Given the description of an element on the screen output the (x, y) to click on. 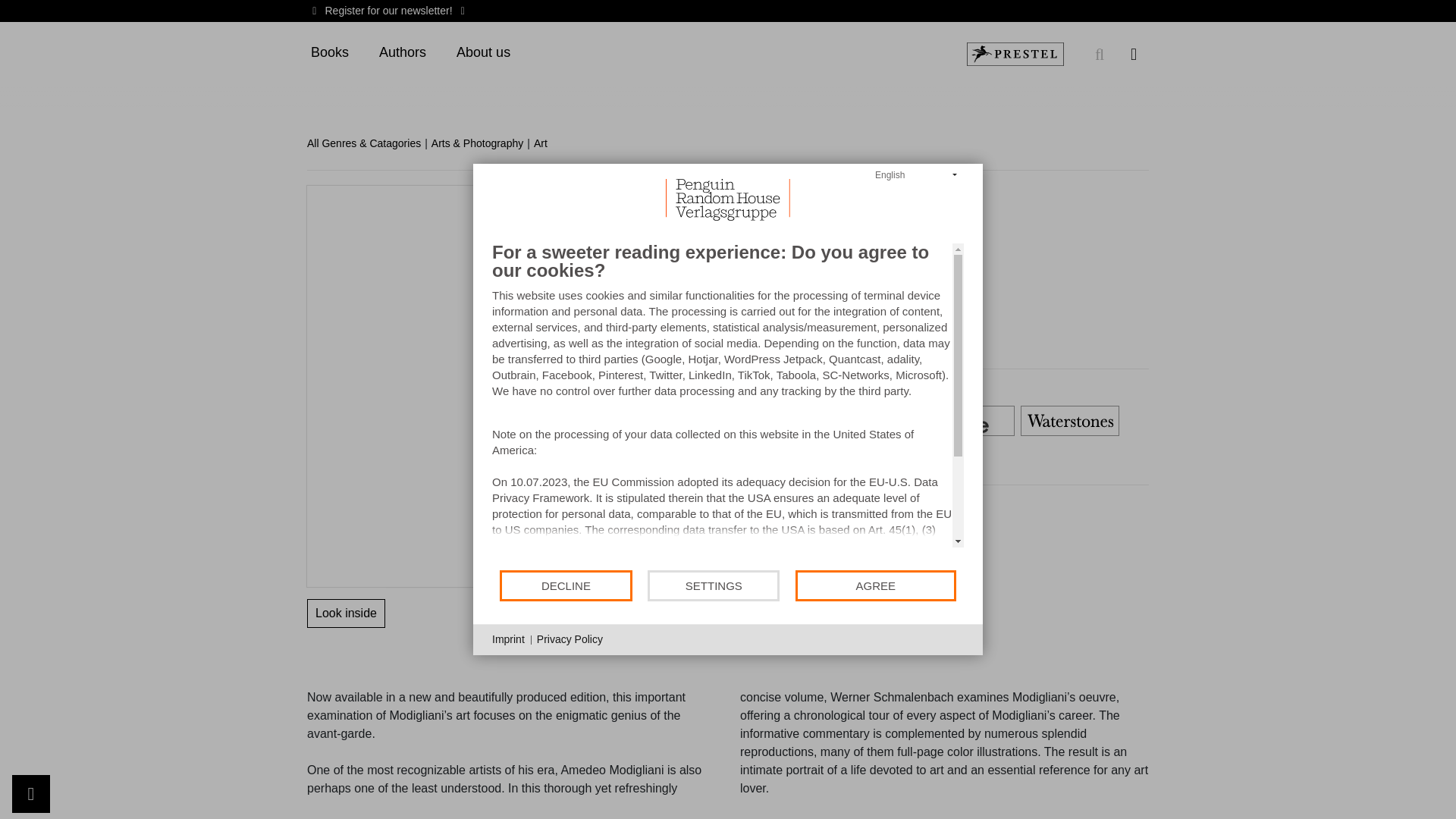
About us (483, 52)
Register for our newsletter! (388, 10)
Werner Schmalenbach (663, 193)
waterstones (1069, 421)
Look inside (346, 613)
bookshop (860, 421)
amazoncouk (651, 421)
Art (545, 142)
Authors (402, 52)
Books (329, 52)
hive (964, 421)
blackwells (755, 421)
otherstores (651, 458)
